Given the description of an element on the screen output the (x, y) to click on. 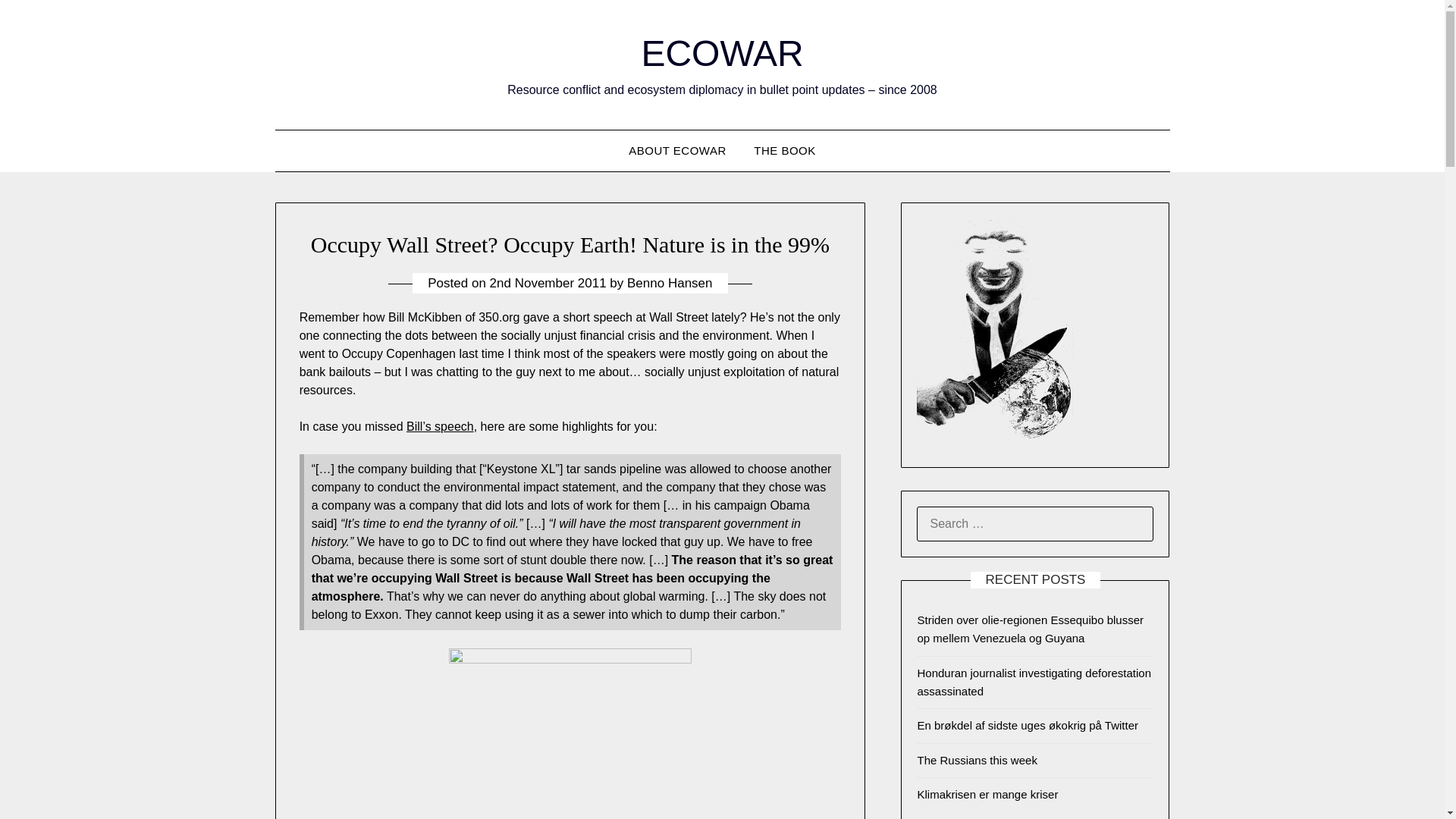
Honduran journalist investigating deforestation assassinated (1034, 680)
THE BOOK (784, 150)
ECOWAR (721, 53)
Search (38, 22)
ABOUT ECOWAR (676, 150)
2nd November 2011 (548, 283)
Klimakrisen er mange kriser (987, 793)
The Russians this week (976, 759)
Benno Hansen (669, 283)
